Given the description of an element on the screen output the (x, y) to click on. 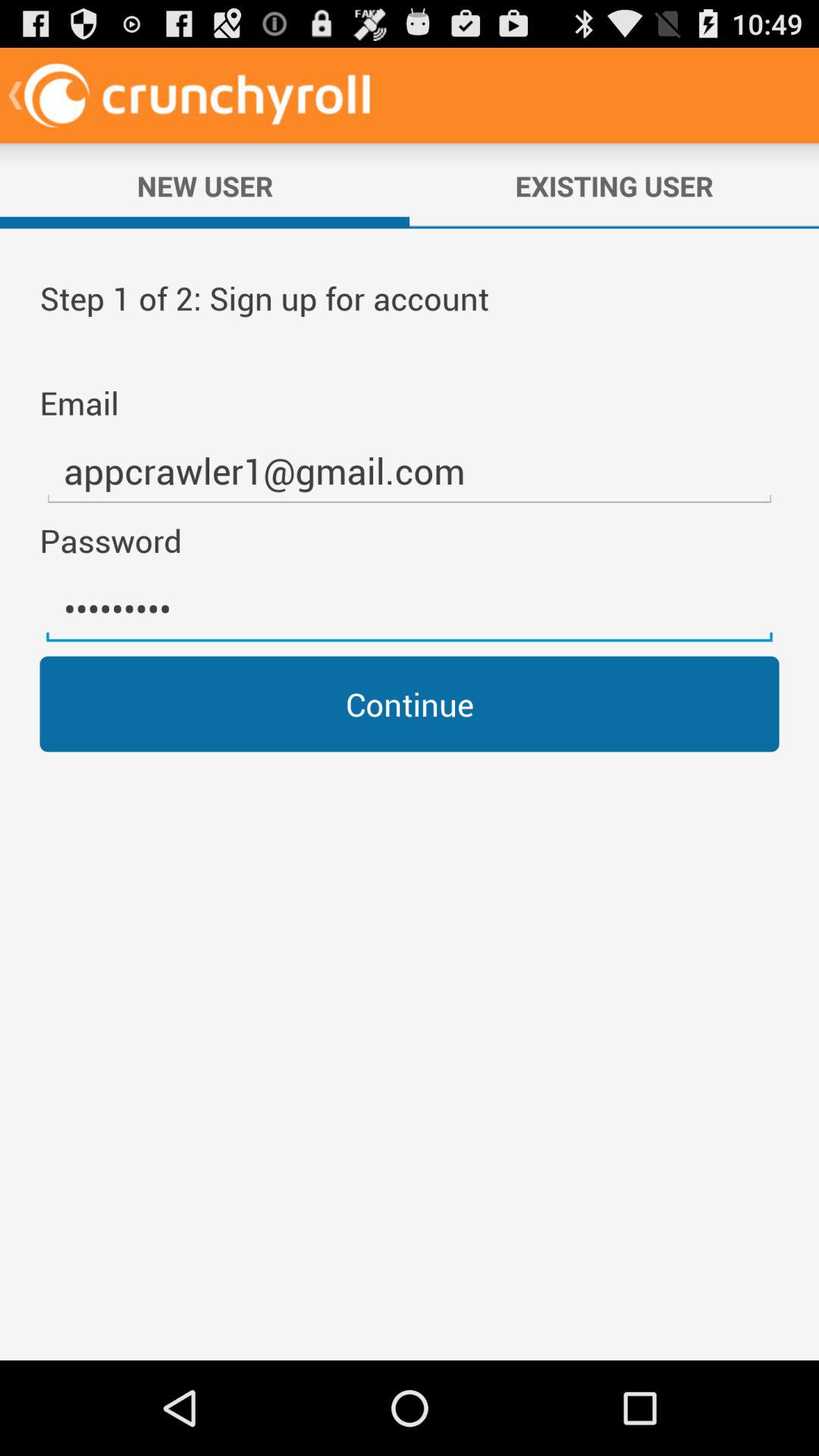
press the icon below the crowd3116 (409, 703)
